Given the description of an element on the screen output the (x, y) to click on. 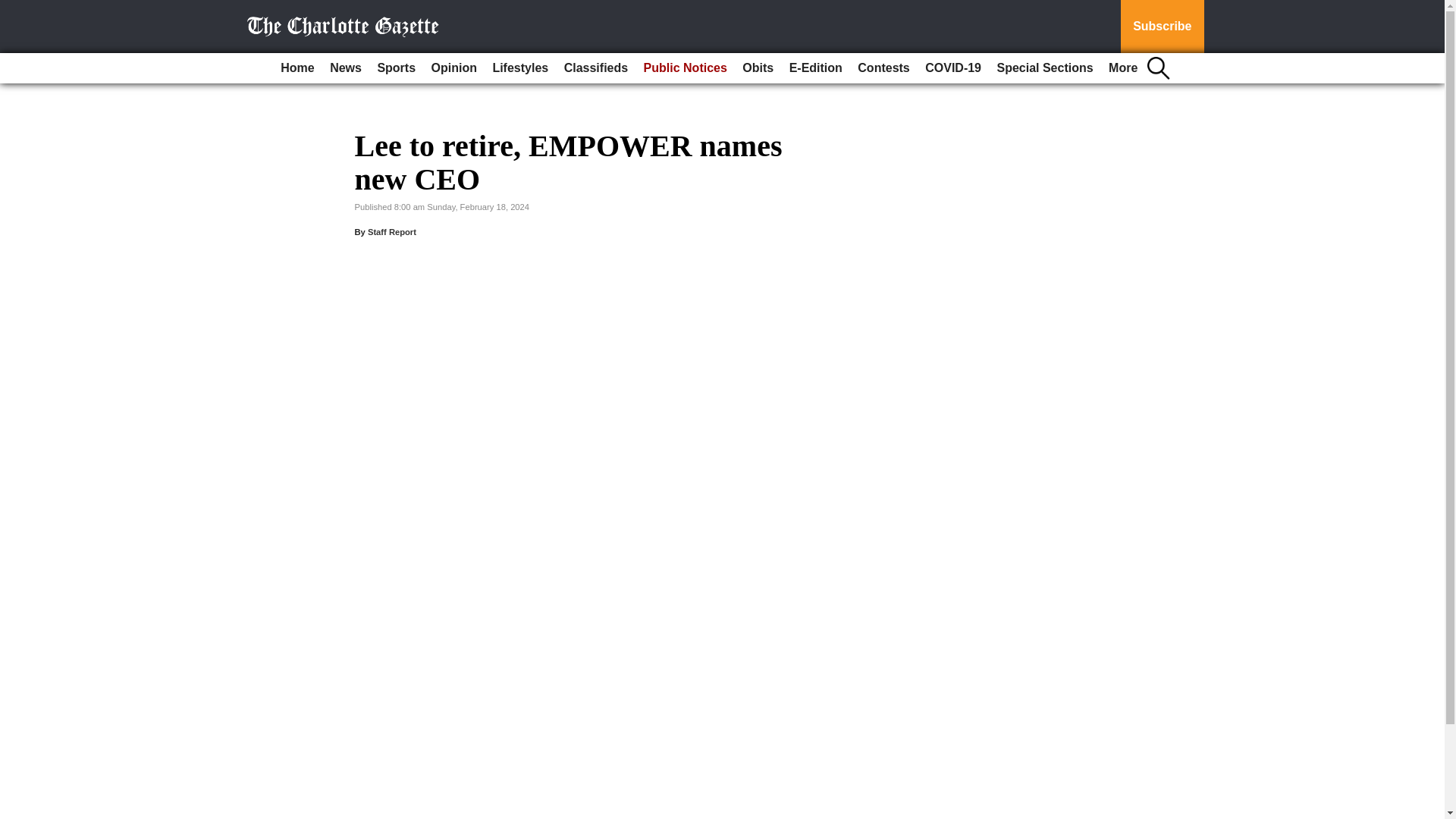
Public Notices (685, 68)
Sports (396, 68)
Classifieds (595, 68)
Go (13, 9)
Subscribe (1162, 26)
Obits (757, 68)
Contests (883, 68)
More (1122, 68)
Home (297, 68)
Opinion (453, 68)
